Given the description of an element on the screen output the (x, y) to click on. 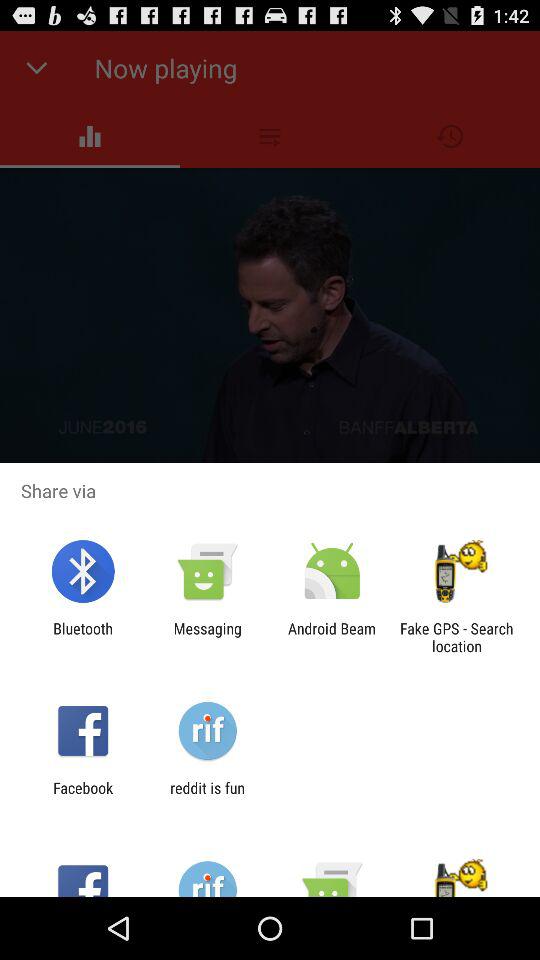
jump until the reddit is fun icon (207, 796)
